Given the description of an element on the screen output the (x, y) to click on. 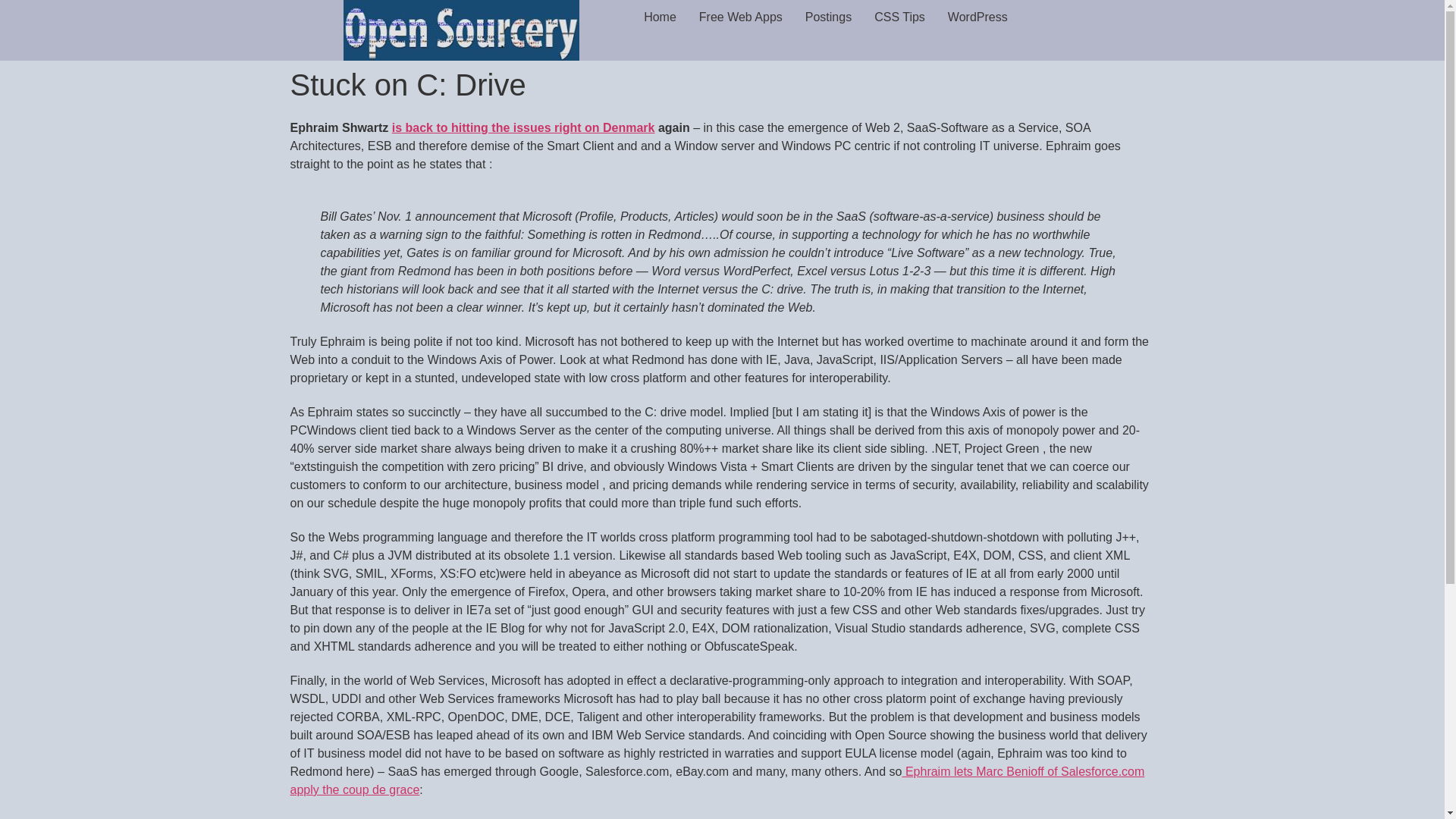
theopensonly (461, 30)
Postings (828, 17)
CSS Tips (899, 17)
is back to hitting the issues right on Denmark (523, 127)
WordPress (977, 17)
Free Web Apps (740, 17)
Home (659, 17)
